Given the description of an element on the screen output the (x, y) to click on. 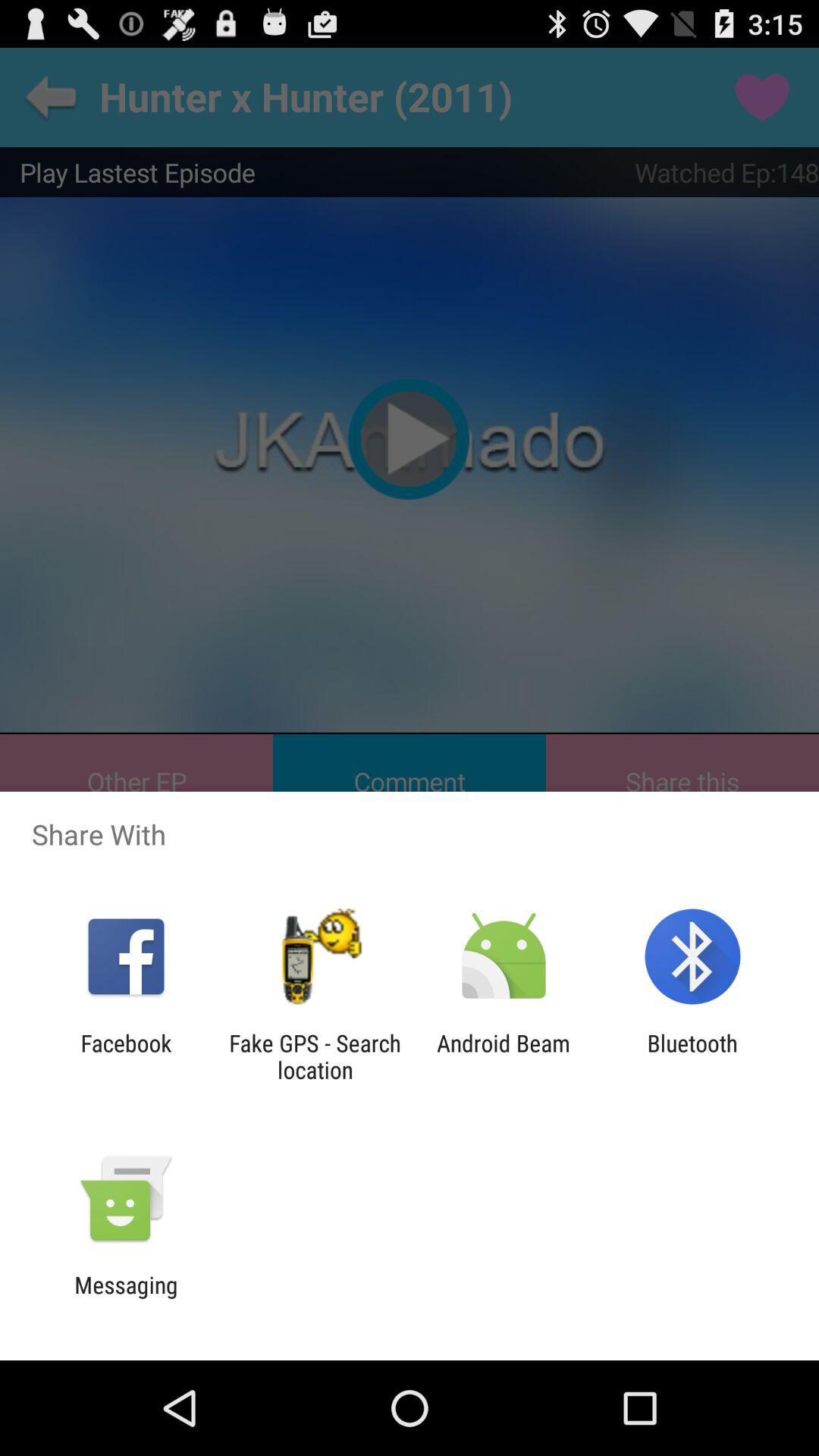
press the icon next to the bluetooth (503, 1056)
